Given the description of an element on the screen output the (x, y) to click on. 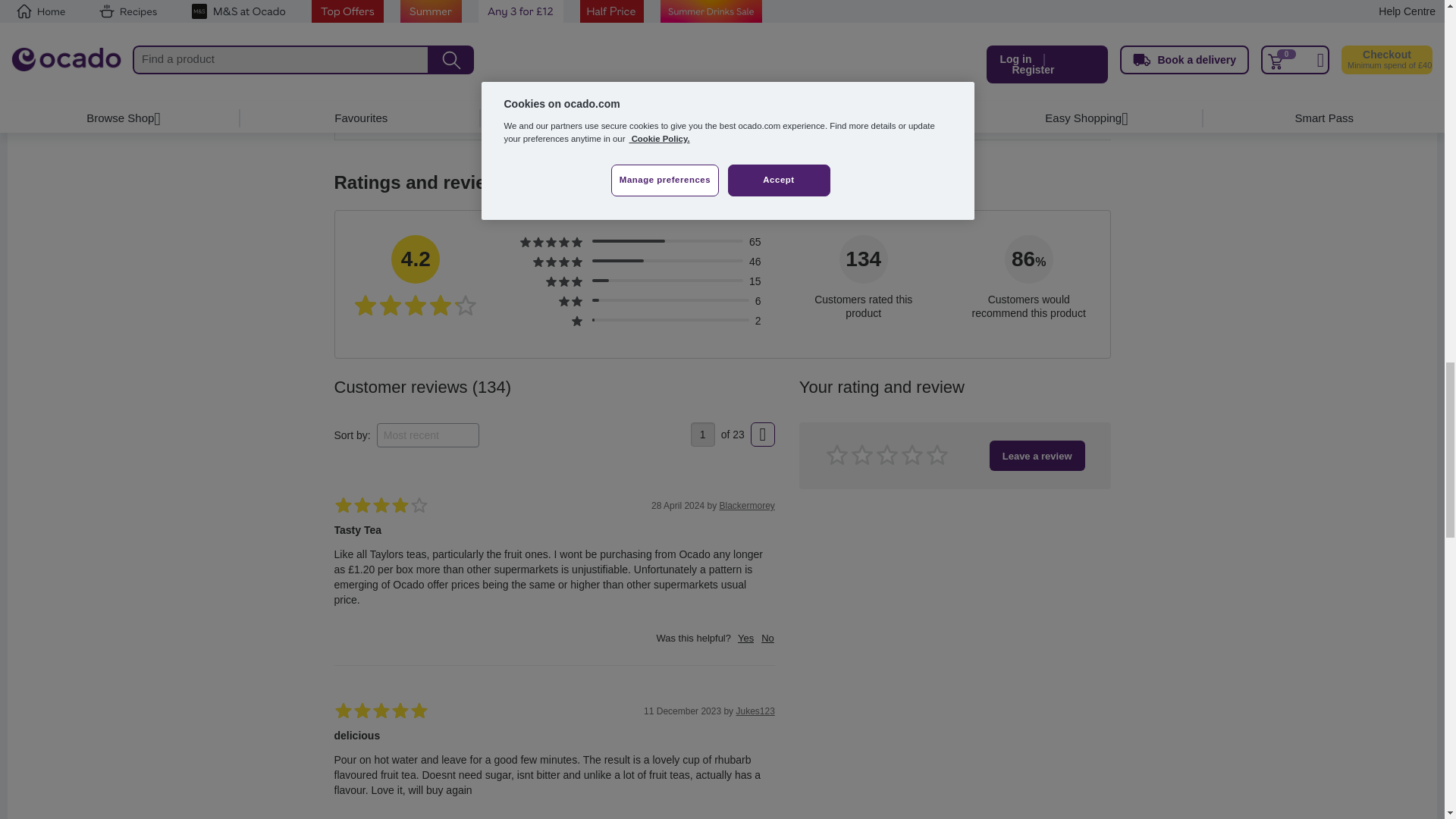
1 (702, 434)
